Given the description of an element on the screen output the (x, y) to click on. 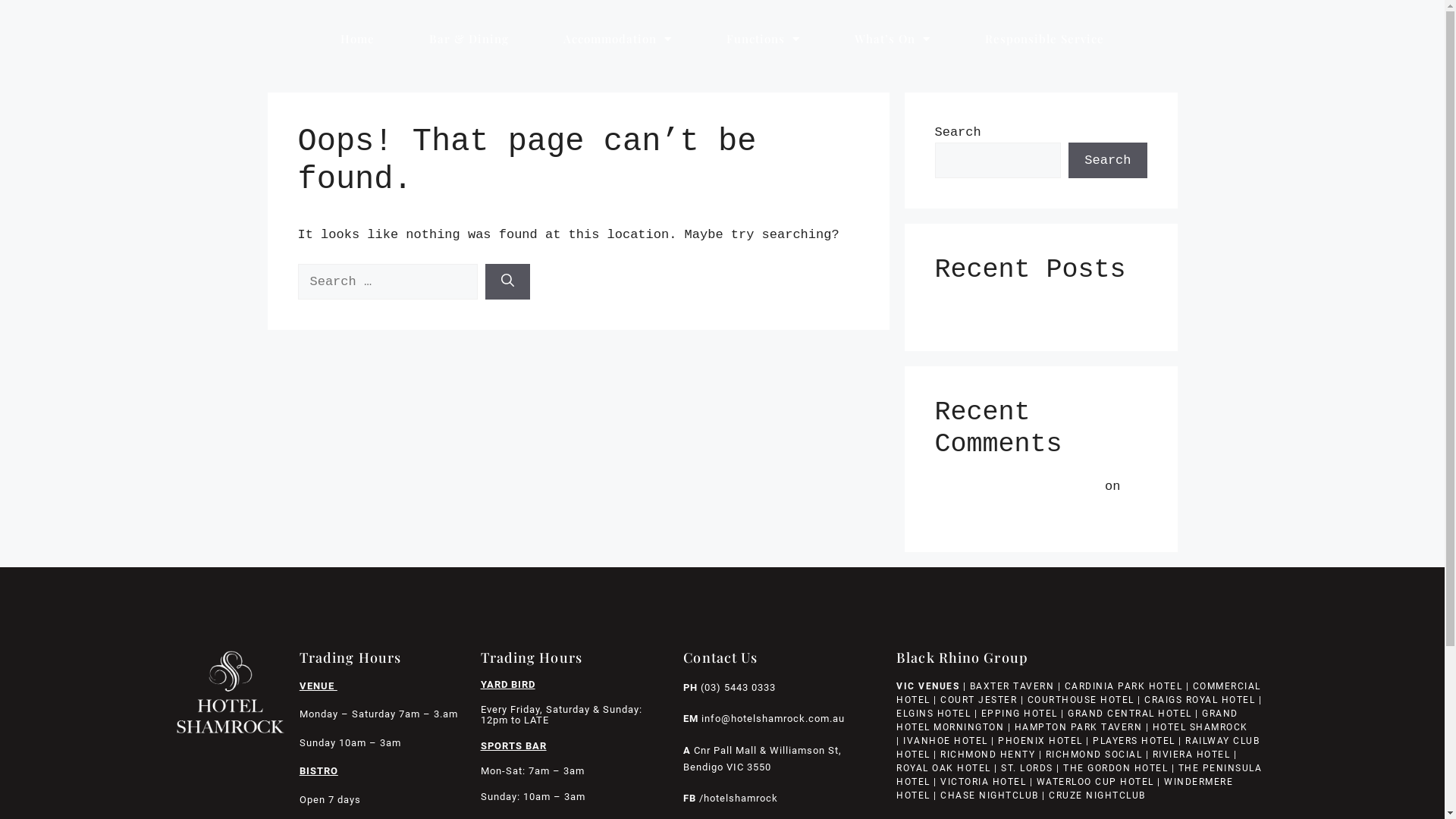
WINDERMERE HOTEL Element type: text (1064, 788)
A WordPress Commenter Element type: text (1015, 486)
WATERLOO CUP HOTEL Element type: text (1095, 781)
Home Element type: text (357, 38)
PLAYERS HOTEL Element type: text (1133, 740)
CRAIGS ROYAL HOTEL Element type: text (1199, 699)
Bar & Dining Element type: text (468, 38)
IVANHOE HOTEL Element type: text (945, 740)
GRAND CENTRAL HOTEL Element type: text (1129, 713)
RIVIERA HOTEL Element type: text (1191, 754)
PHOENIX HOTEL Element type: text (1039, 740)
RICHMOND SOCIAL Element type: text (1093, 754)
THE PENINSULA HOTEL Element type: text (1078, 774)
ROYAL OAK HOTEL Element type: text (943, 767)
Accommodation Element type: text (617, 38)
Hello world! Element type: text (980, 509)
CRUZE NIGHTCLUB  Element type: text (1098, 795)
RAILWAY CLUB HOTEL Element type: text (1077, 747)
EPPING HOTEL Element type: text (1019, 713)
COURT JESTER Element type: text (978, 699)
RICHMOND HENTY Element type: text (987, 754)
ELGINS HOTEL Element type: text (933, 713)
Responsible Service Element type: text (1044, 38)
VICTORIA HOTEL Element type: text (983, 781)
Functions Element type: text (763, 38)
Hello world! Element type: text (980, 310)
Search for: Element type: hover (386, 281)
BAXTER TAVERN Element type: text (1011, 685)
CHASE NIGHTCLUB Element type: text (989, 795)
ST. LORDS Element type: text (1027, 767)
COURTHOUSE HOTEL Element type: text (1080, 699)
Search Element type: text (1107, 160)
THE GORDON HOTEL Element type: text (1115, 767)
HOTEL SHAMROCK Element type: text (1200, 726)
GRAND HOTEL MORNINGTON Element type: text (1067, 720)
COMMERCIAL HOTEL Element type: text (1078, 692)
HAMPTON PARK TAVERN Element type: text (1078, 726)
CARDINIA PARK HOTEL Element type: text (1123, 685)
